Given the description of an element on the screen output the (x, y) to click on. 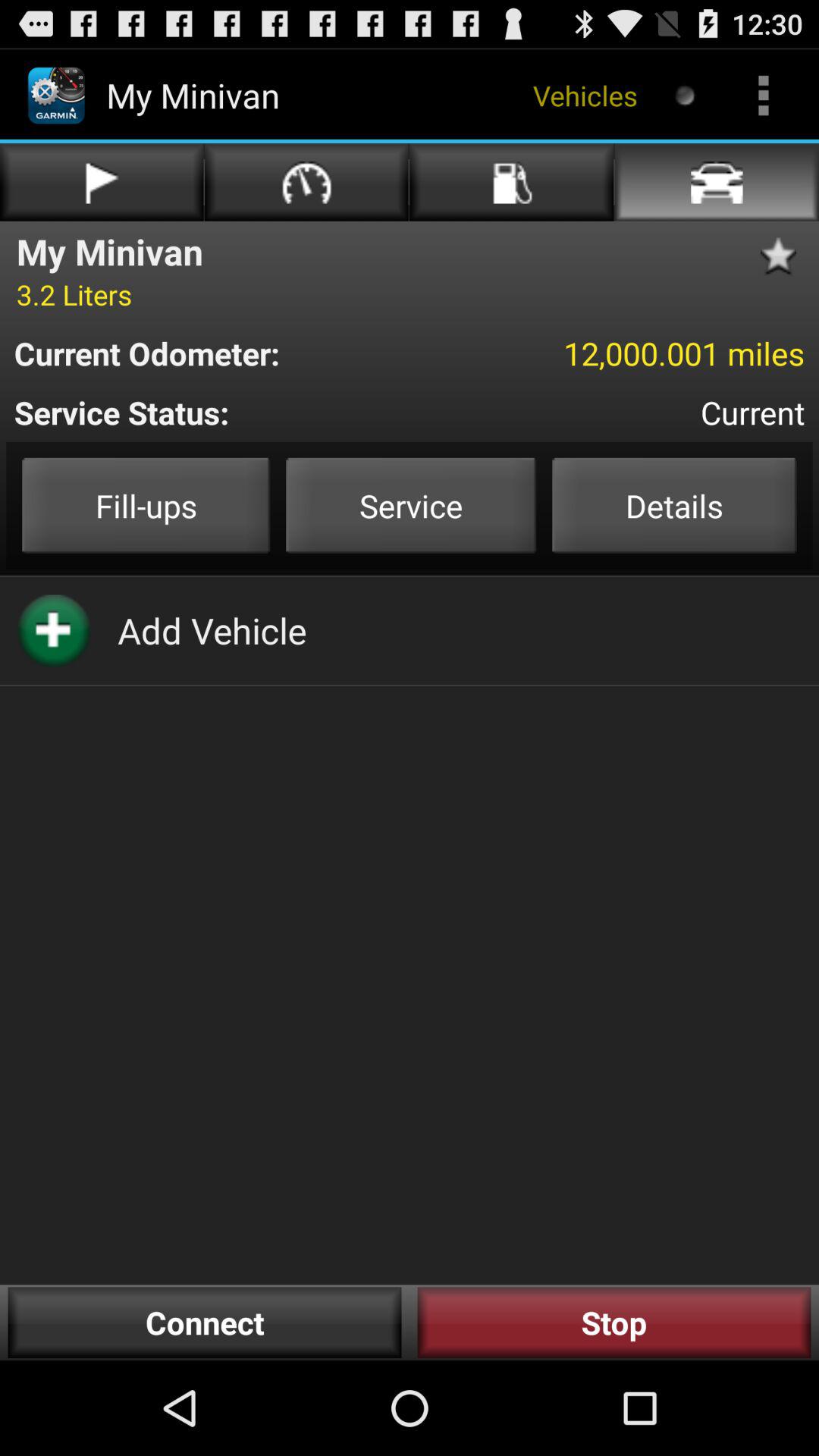
jump until the add vehicle icon (211, 630)
